Given the description of an element on the screen output the (x, y) to click on. 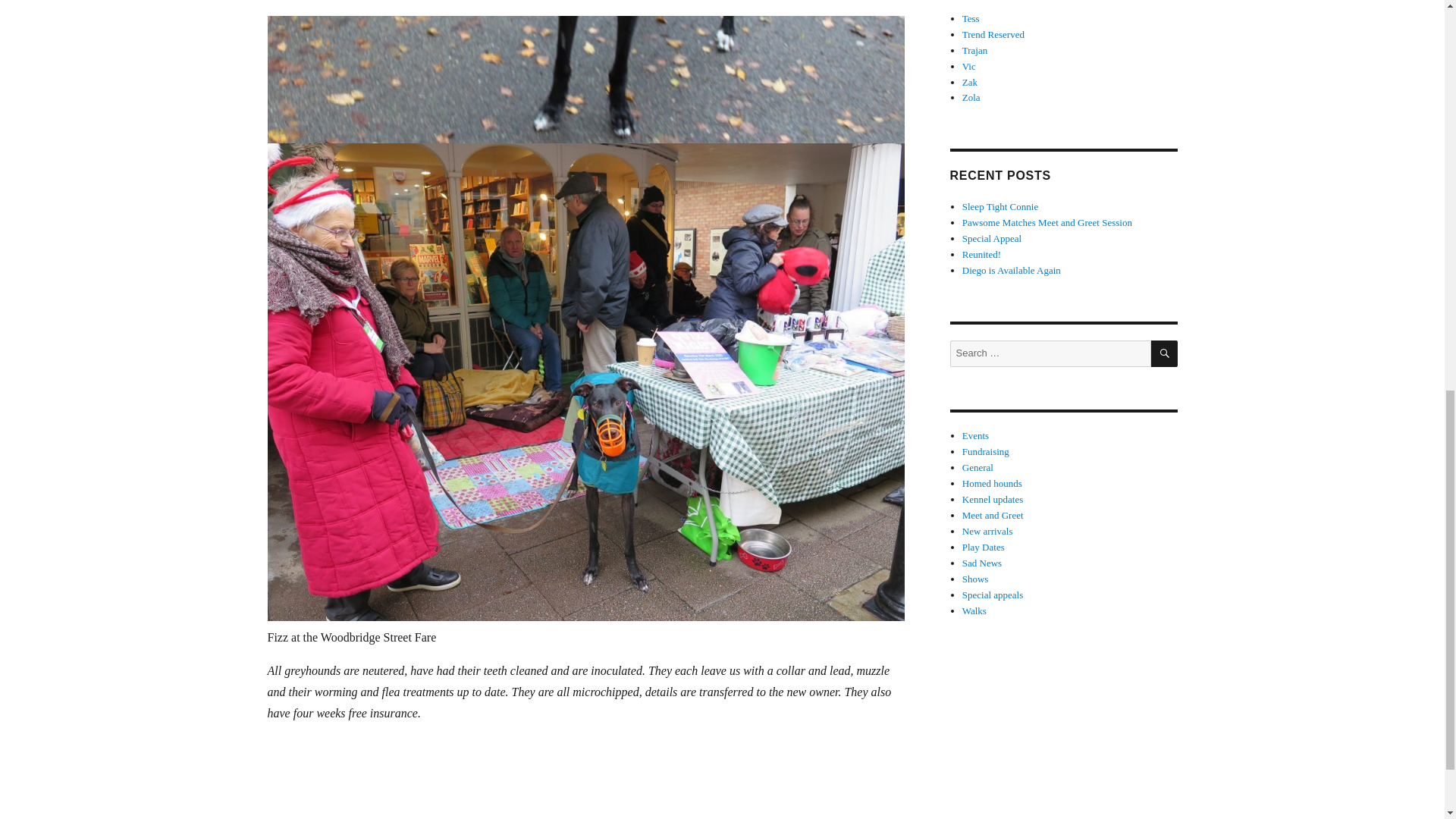
Tess (970, 18)
Sparky (976, 4)
Search for: (1049, 353)
